Given the description of an element on the screen output the (x, y) to click on. 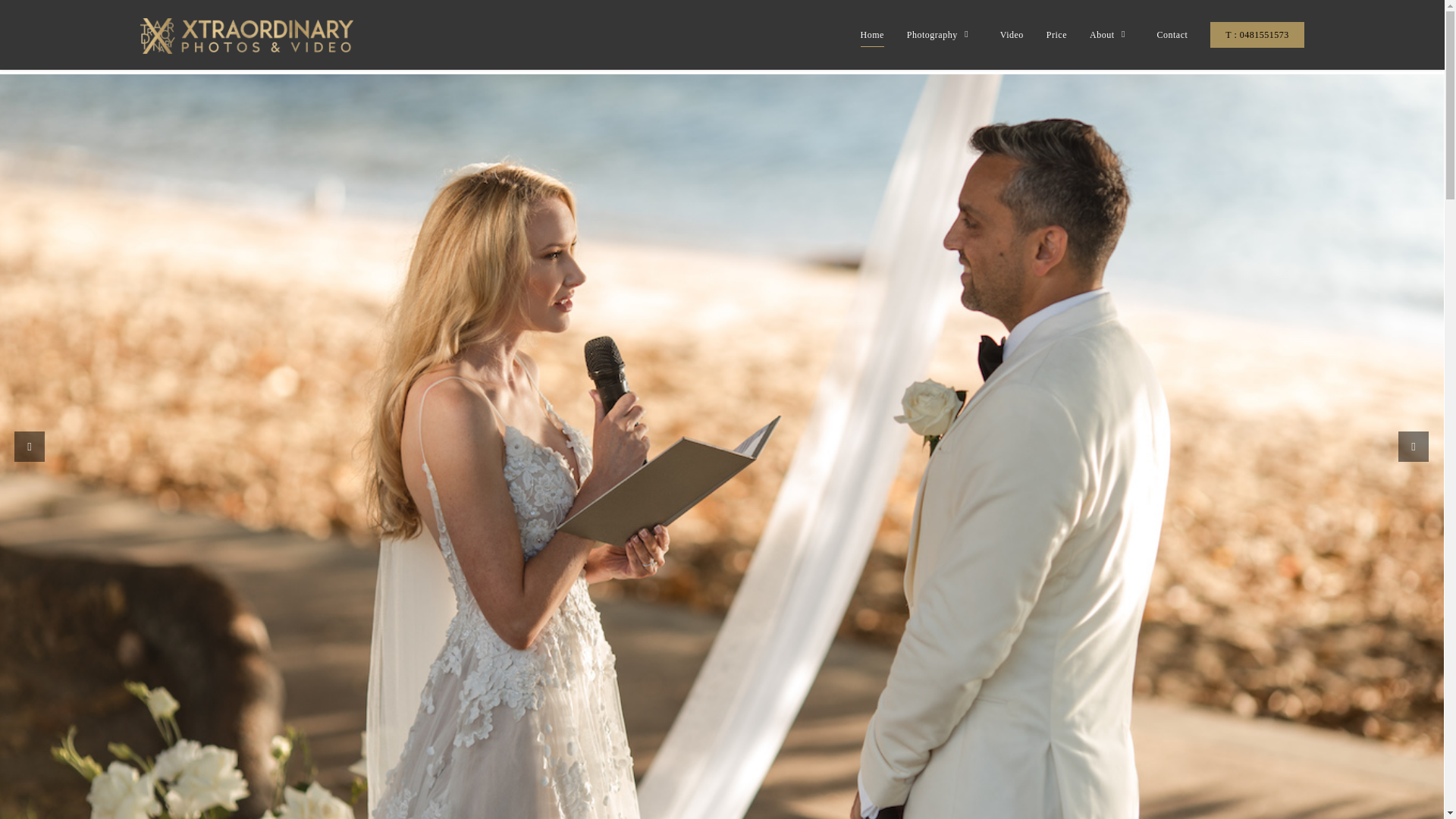
T : 0481551573 (1256, 43)
Price (1056, 43)
Photography (941, 43)
Contact (1172, 43)
Video (1011, 43)
About (1111, 43)
Home (871, 43)
